Given the description of an element on the screen output the (x, y) to click on. 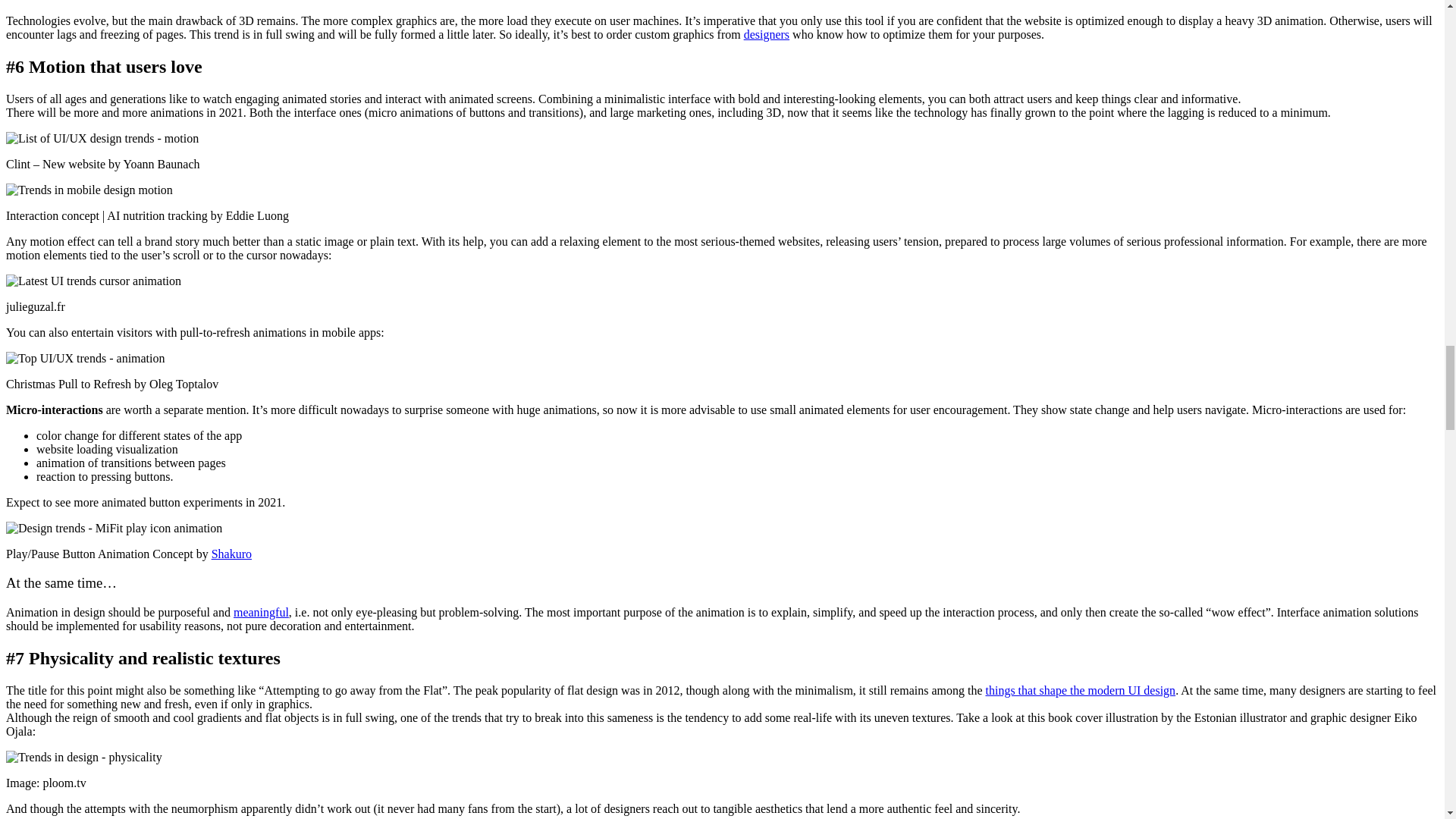
things that shape the modern UI design (1080, 689)
meaningful (260, 612)
designers (766, 33)
Shakuro (231, 553)
